Given the description of an element on the screen output the (x, y) to click on. 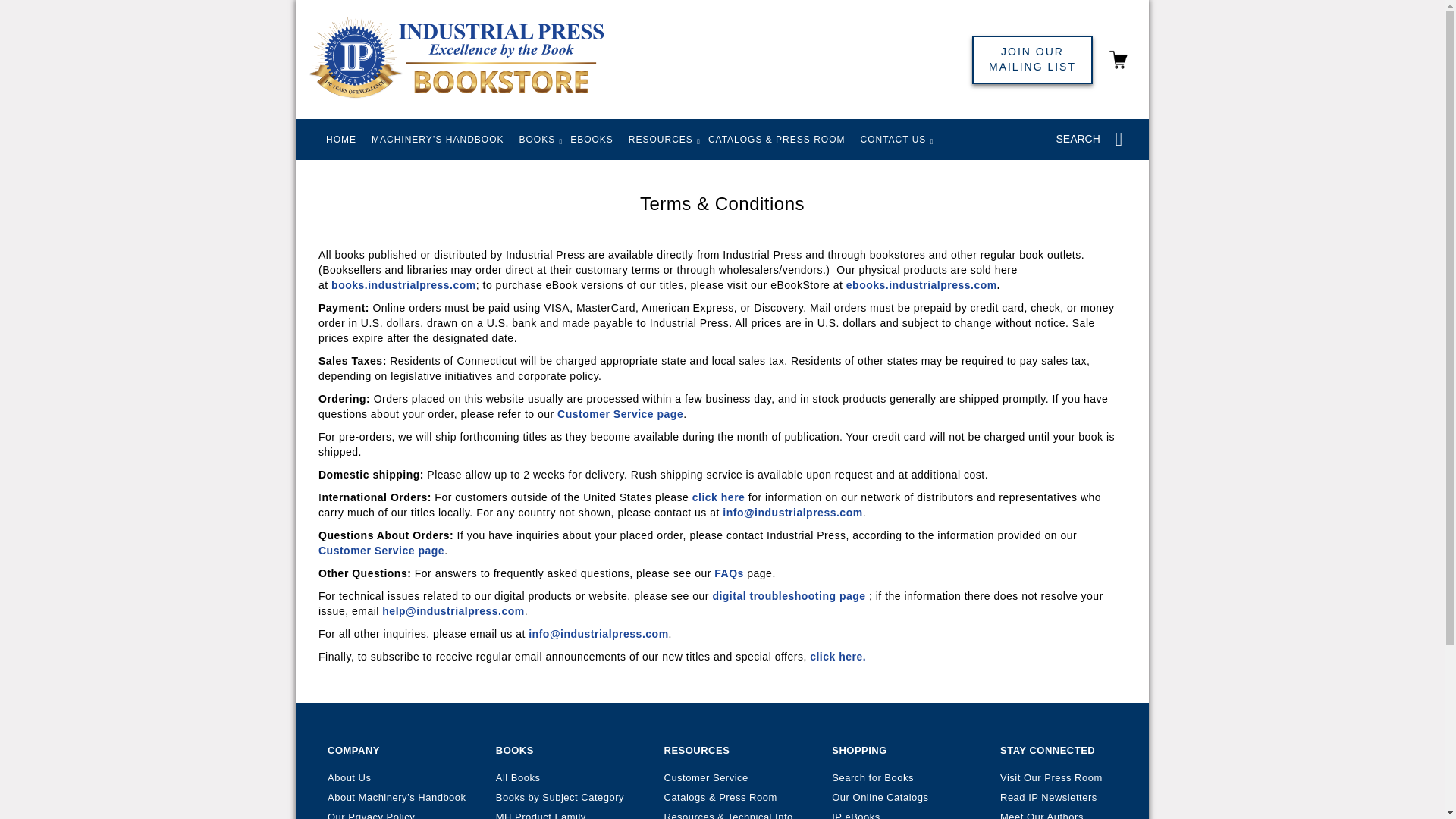
books.industrialpress.com (403, 285)
Customer Service page (619, 413)
EBOOKS (591, 139)
SEARCH (1090, 139)
Cart (1122, 59)
HOME (341, 139)
BOOKS (536, 139)
CONTACT US (893, 139)
ebooks.industrialpress.com (921, 285)
RESOURCES (660, 139)
